Given the description of an element on the screen output the (x, y) to click on. 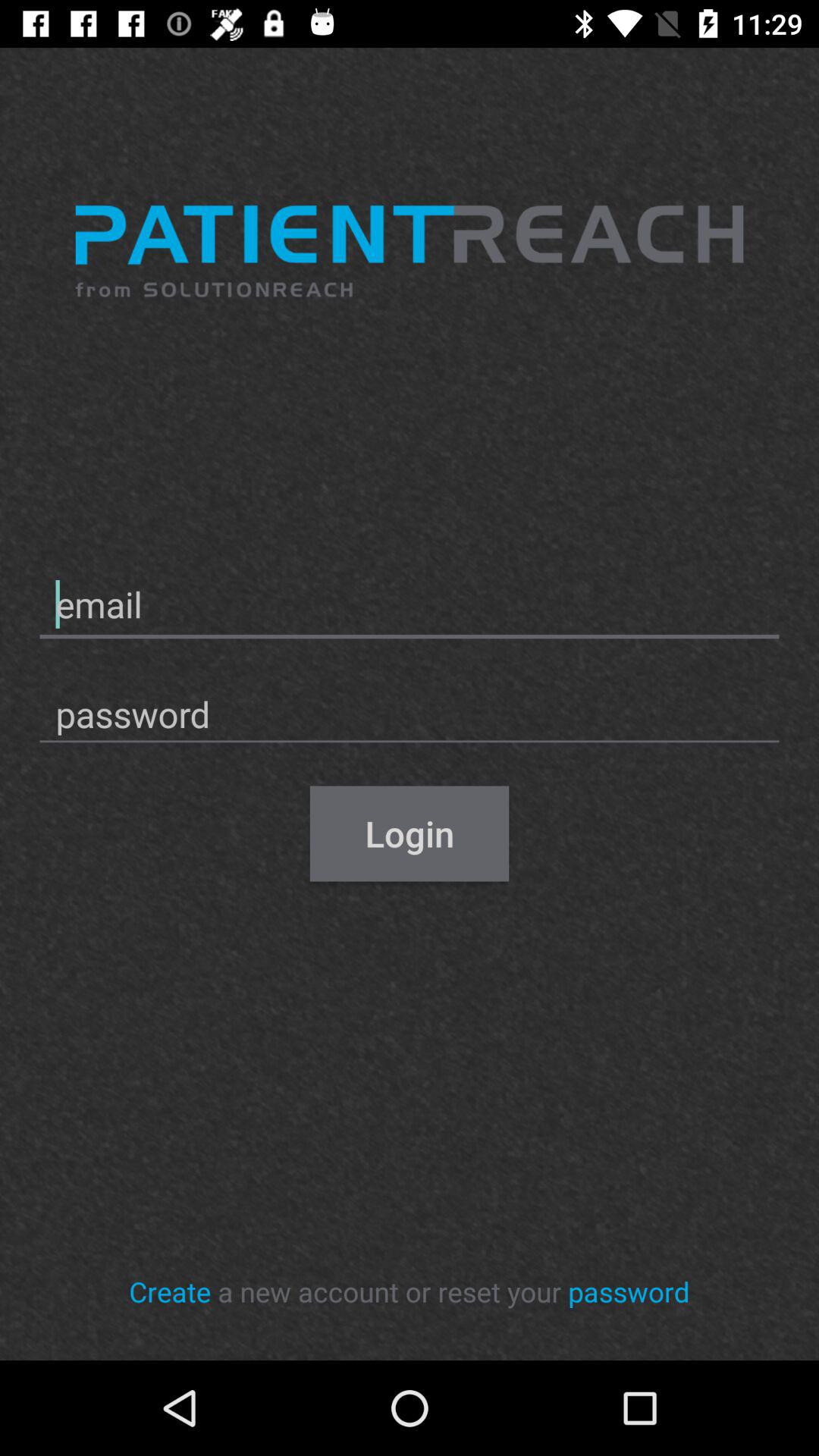
scroll to password icon (628, 1291)
